Given the description of an element on the screen output the (x, y) to click on. 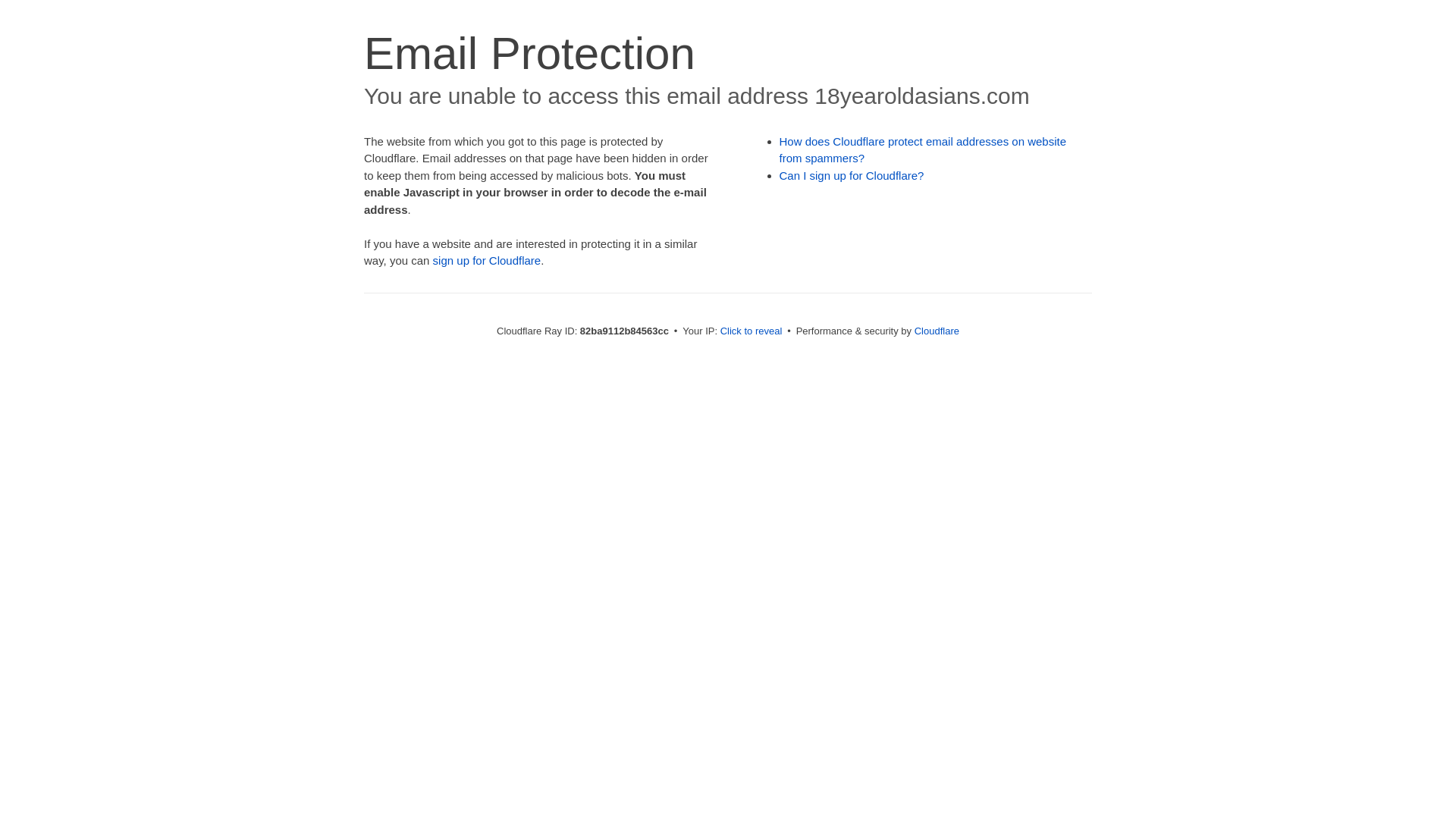
sign up for Cloudflare Element type: text (487, 260)
Can I sign up for Cloudflare? Element type: text (851, 175)
Click to reveal Element type: text (751, 330)
Cloudflare Element type: text (936, 330)
